Given the description of an element on the screen output the (x, y) to click on. 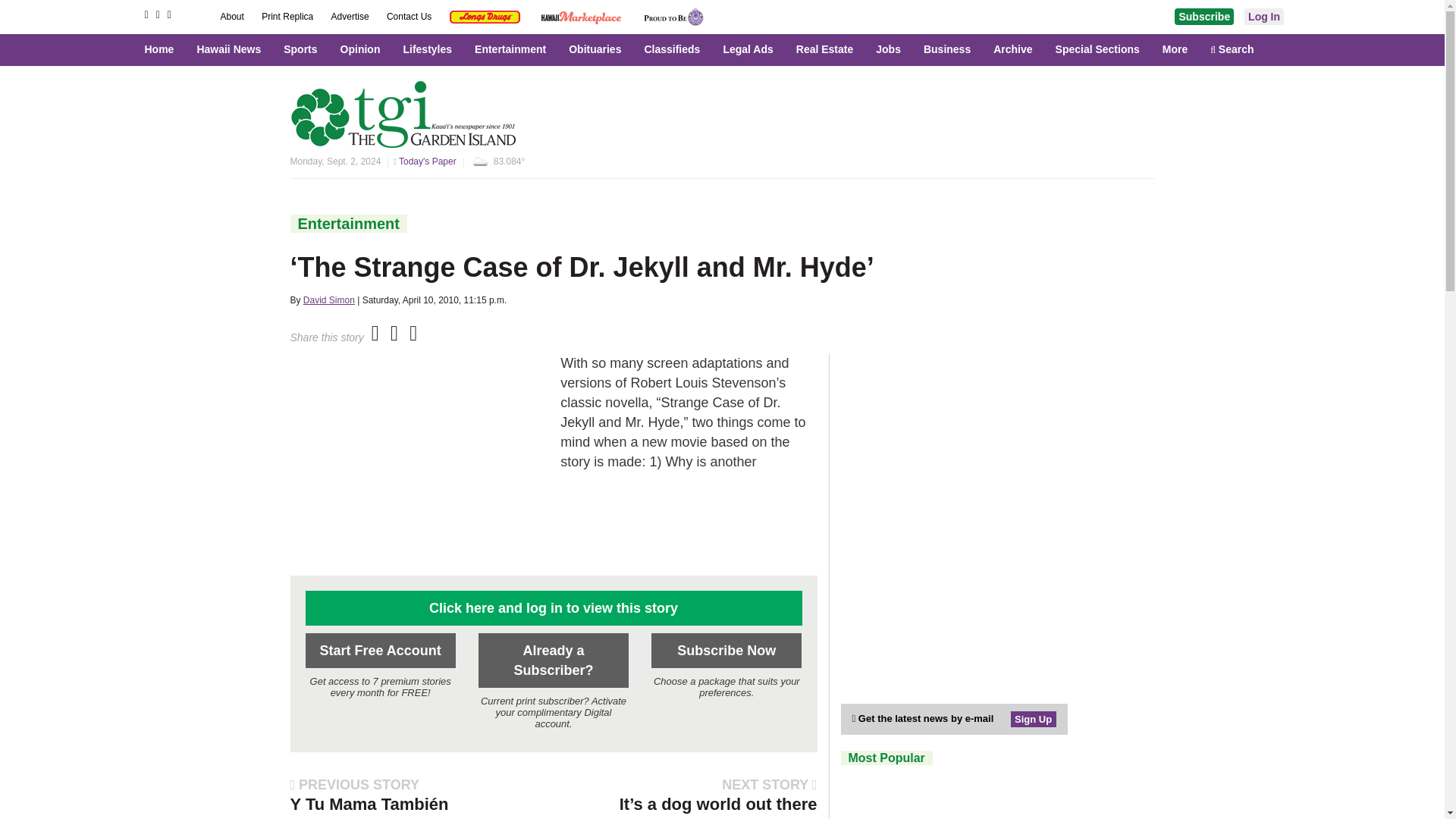
Log In (1264, 16)
Opinion (364, 49)
Subscribe (1203, 16)
Opinion (364, 49)
Hawaii News (232, 49)
Home (166, 49)
Sports (303, 49)
Hawaii News (232, 49)
About (232, 16)
Lifestyles (430, 49)
